Given the description of an element on the screen output the (x, y) to click on. 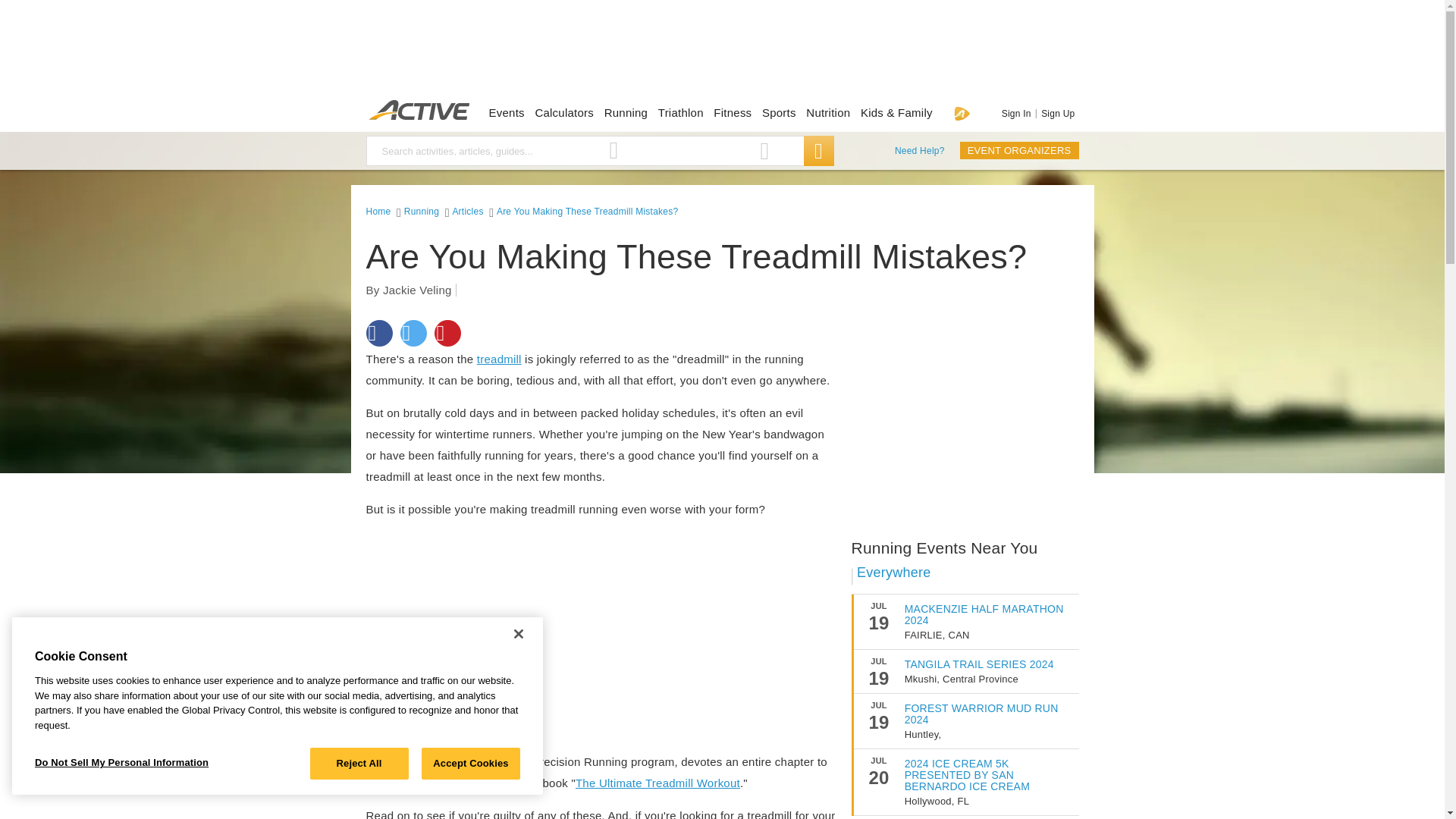
Go Premium (961, 113)
Share on Facebook (378, 333)
The Ultimate Treadmill Workout (657, 782)
Share on Pinterest (446, 333)
More (499, 358)
Share on Twitter (413, 333)
3rd party ad content (721, 53)
3rd party ad content (964, 414)
3rd party ad content (478, 626)
